Given the description of an element on the screen output the (x, y) to click on. 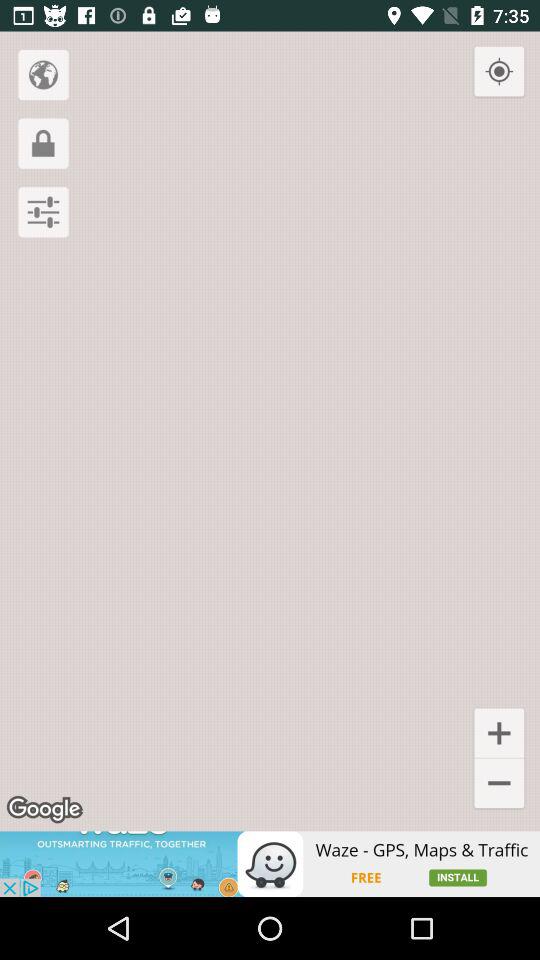
see the map (43, 74)
